Given the description of an element on the screen output the (x, y) to click on. 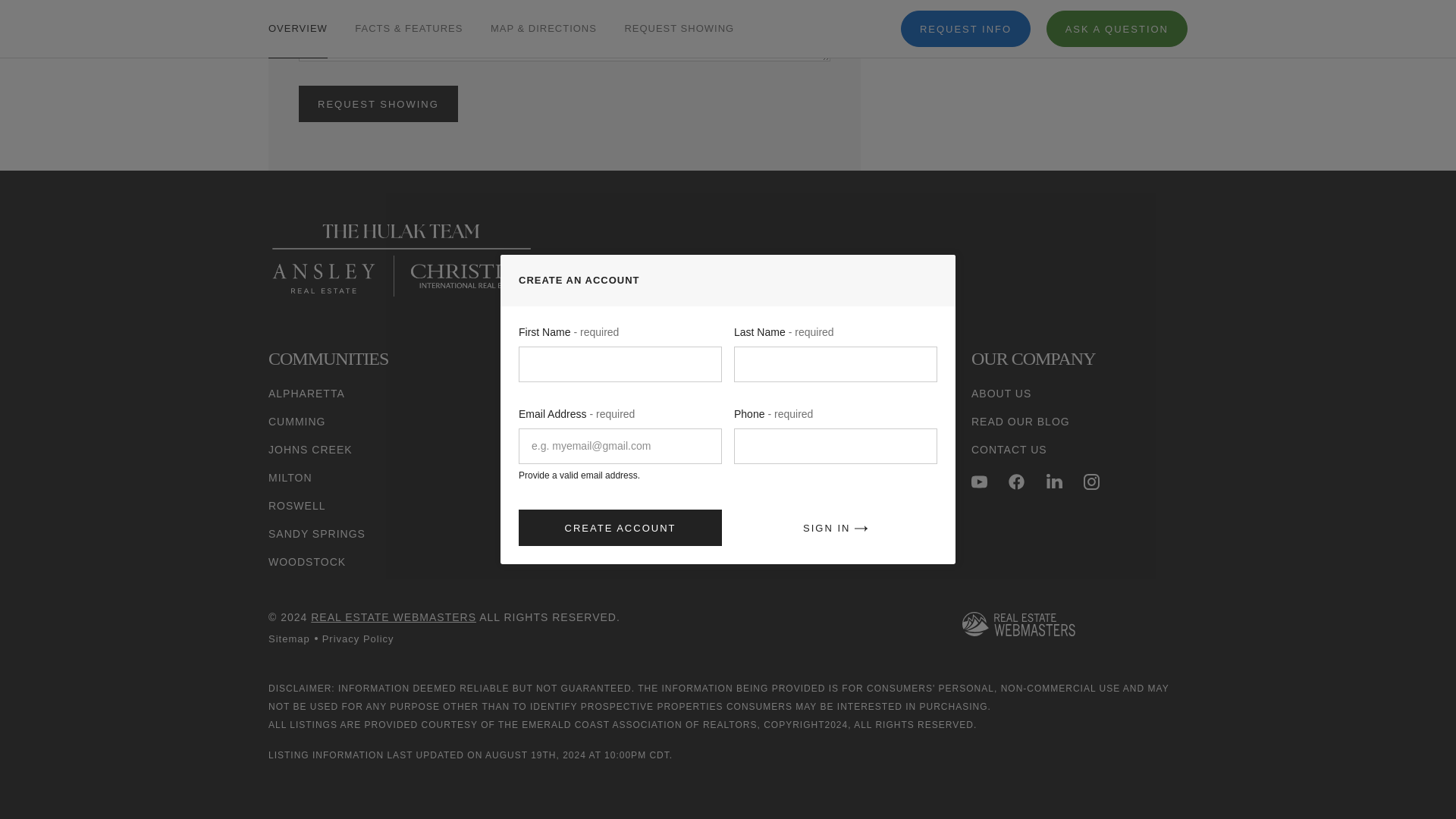
LINKEDIN (1054, 481)
YOUTUBE (979, 481)
FACEBOOK (1017, 481)
